Given the description of an element on the screen output the (x, y) to click on. 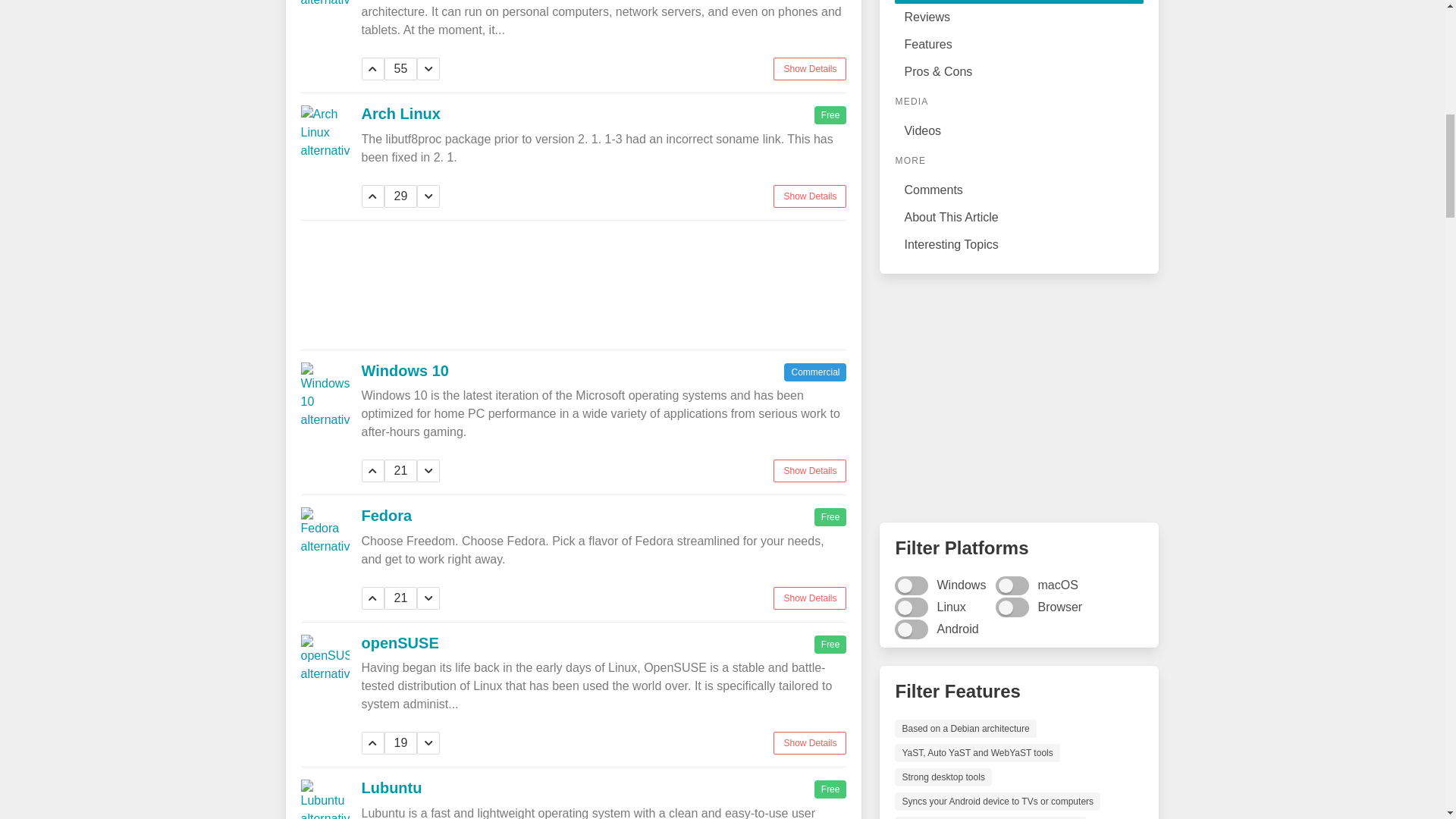
Show Details (809, 196)
Advertisement (572, 283)
Advertisement (1018, 397)
Windows 10 (404, 370)
Arch Linux (400, 113)
Show Details (809, 470)
Show Details (809, 68)
